Given the description of an element on the screen output the (x, y) to click on. 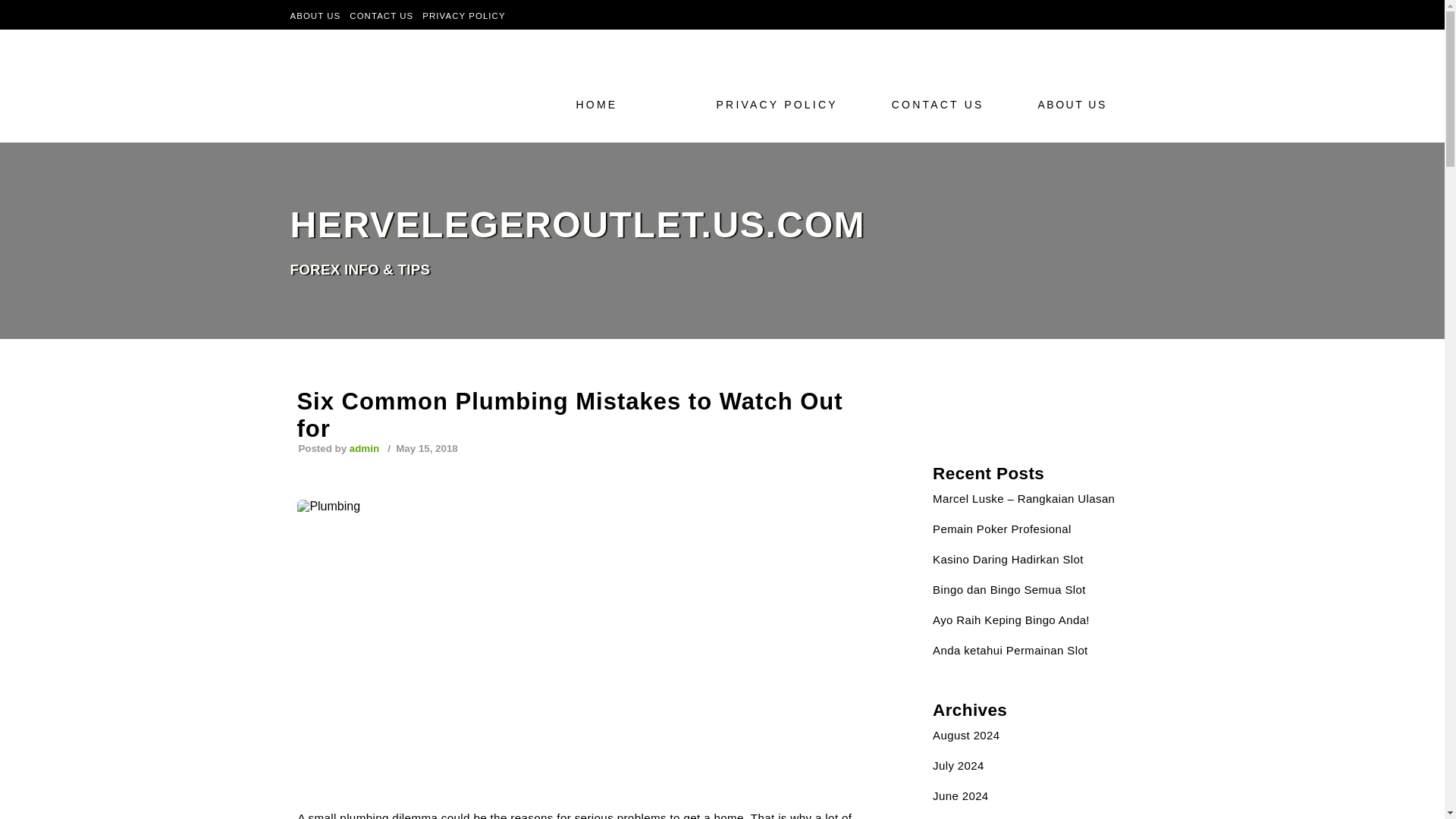
CONTACT US (941, 104)
PRIVACY POLICY (463, 15)
Anda ketahui Permainan Slot (1010, 649)
ABOUT US (314, 15)
May 15, 2018 (425, 448)
July 2024 (958, 765)
CONTACT US (381, 15)
August 2024 (965, 735)
PRIVACY POLICY (780, 104)
June 2024 (960, 795)
